Given the description of an element on the screen output the (x, y) to click on. 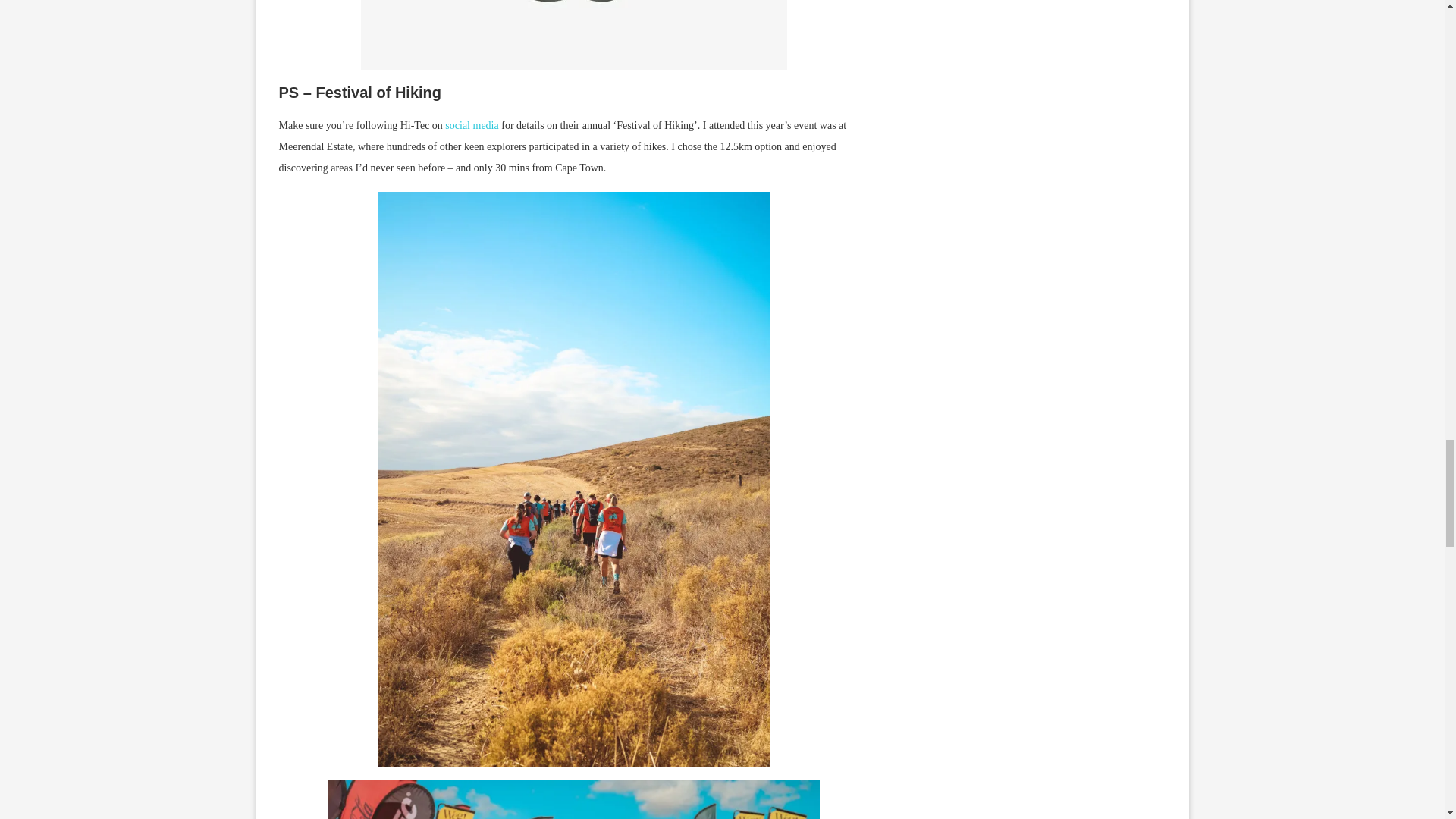
social media (471, 125)
